Given the description of an element on the screen output the (x, y) to click on. 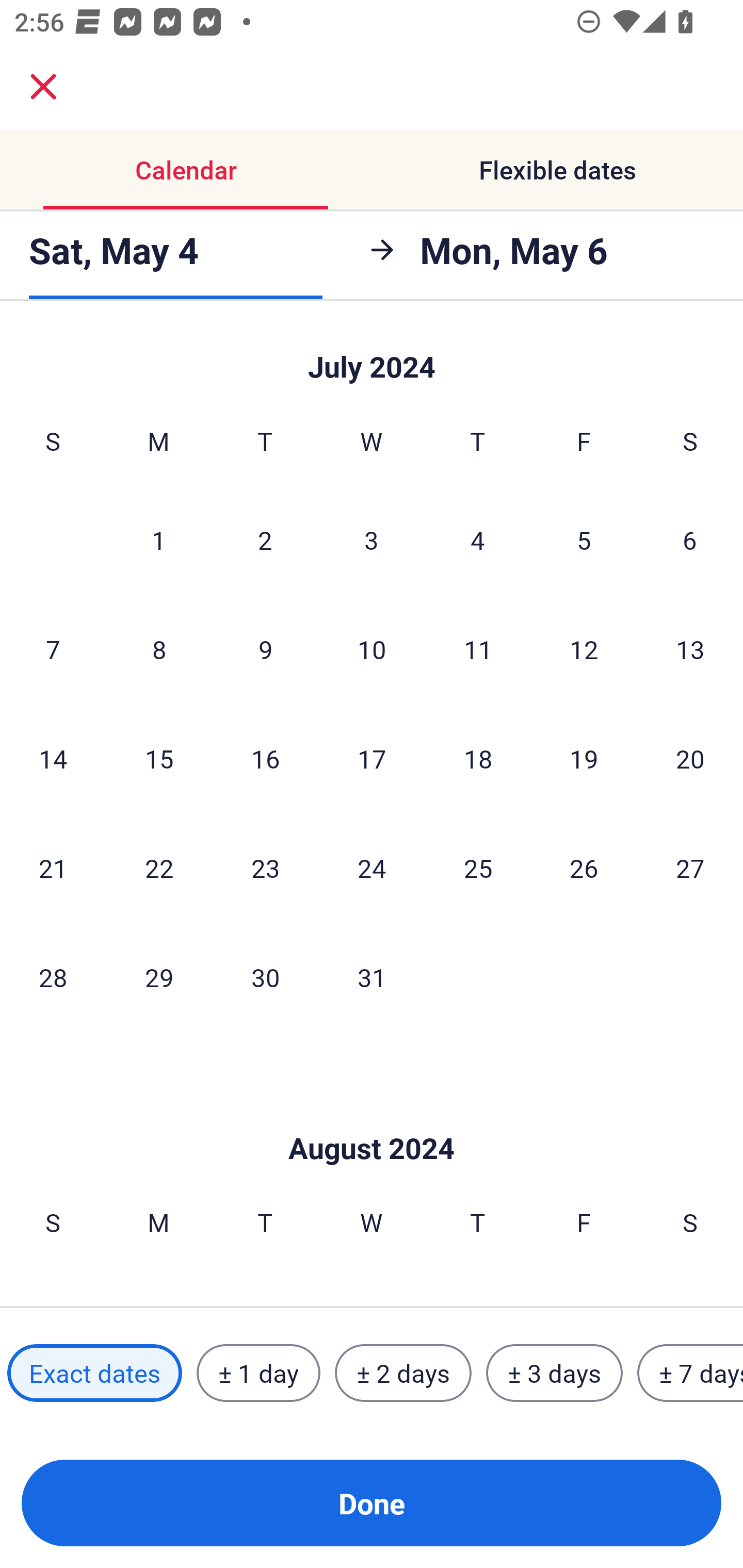
close. (43, 86)
Flexible dates (557, 170)
Skip to Done (371, 354)
1 Monday, July 1, 2024 (158, 539)
2 Tuesday, July 2, 2024 (264, 539)
3 Wednesday, July 3, 2024 (371, 539)
4 Thursday, July 4, 2024 (477, 539)
5 Friday, July 5, 2024 (583, 539)
6 Saturday, July 6, 2024 (689, 539)
7 Sunday, July 7, 2024 (53, 648)
8 Monday, July 8, 2024 (159, 648)
9 Tuesday, July 9, 2024 (265, 648)
10 Wednesday, July 10, 2024 (371, 648)
11 Thursday, July 11, 2024 (477, 648)
12 Friday, July 12, 2024 (584, 648)
13 Saturday, July 13, 2024 (690, 648)
14 Sunday, July 14, 2024 (53, 757)
15 Monday, July 15, 2024 (159, 757)
16 Tuesday, July 16, 2024 (265, 757)
17 Wednesday, July 17, 2024 (371, 757)
18 Thursday, July 18, 2024 (477, 757)
19 Friday, July 19, 2024 (584, 757)
20 Saturday, July 20, 2024 (690, 757)
21 Sunday, July 21, 2024 (53, 867)
22 Monday, July 22, 2024 (159, 867)
23 Tuesday, July 23, 2024 (265, 867)
24 Wednesday, July 24, 2024 (371, 867)
25 Thursday, July 25, 2024 (477, 867)
26 Friday, July 26, 2024 (584, 867)
27 Saturday, July 27, 2024 (690, 867)
28 Sunday, July 28, 2024 (53, 976)
29 Monday, July 29, 2024 (159, 976)
30 Tuesday, July 30, 2024 (265, 976)
31 Wednesday, July 31, 2024 (371, 976)
Skip to Done (371, 1117)
Exact dates (94, 1372)
± 1 day (258, 1372)
± 2 days (403, 1372)
± 3 days (553, 1372)
± 7 days (690, 1372)
Done (371, 1502)
